Given the description of an element on the screen output the (x, y) to click on. 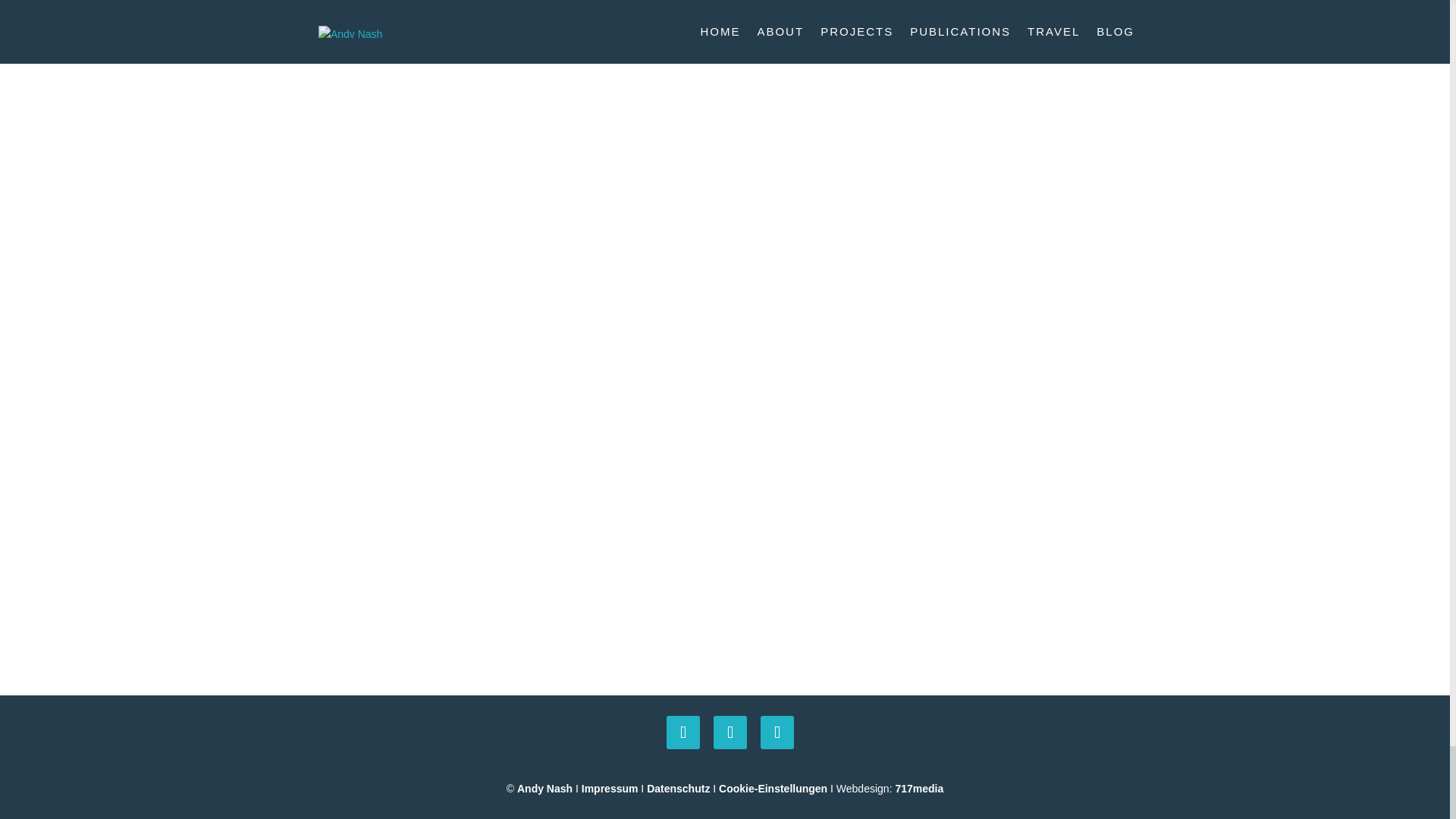
Follow on Youtube (729, 732)
Follow on X (683, 732)
Follow on Flickr (776, 732)
